Given the description of an element on the screen output the (x, y) to click on. 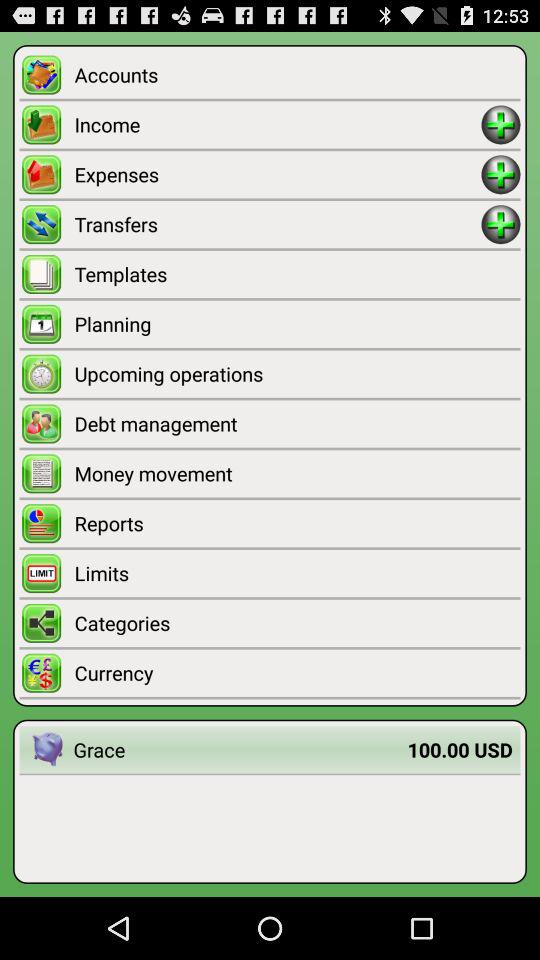
jump to planning (297, 323)
